Given the description of an element on the screen output the (x, y) to click on. 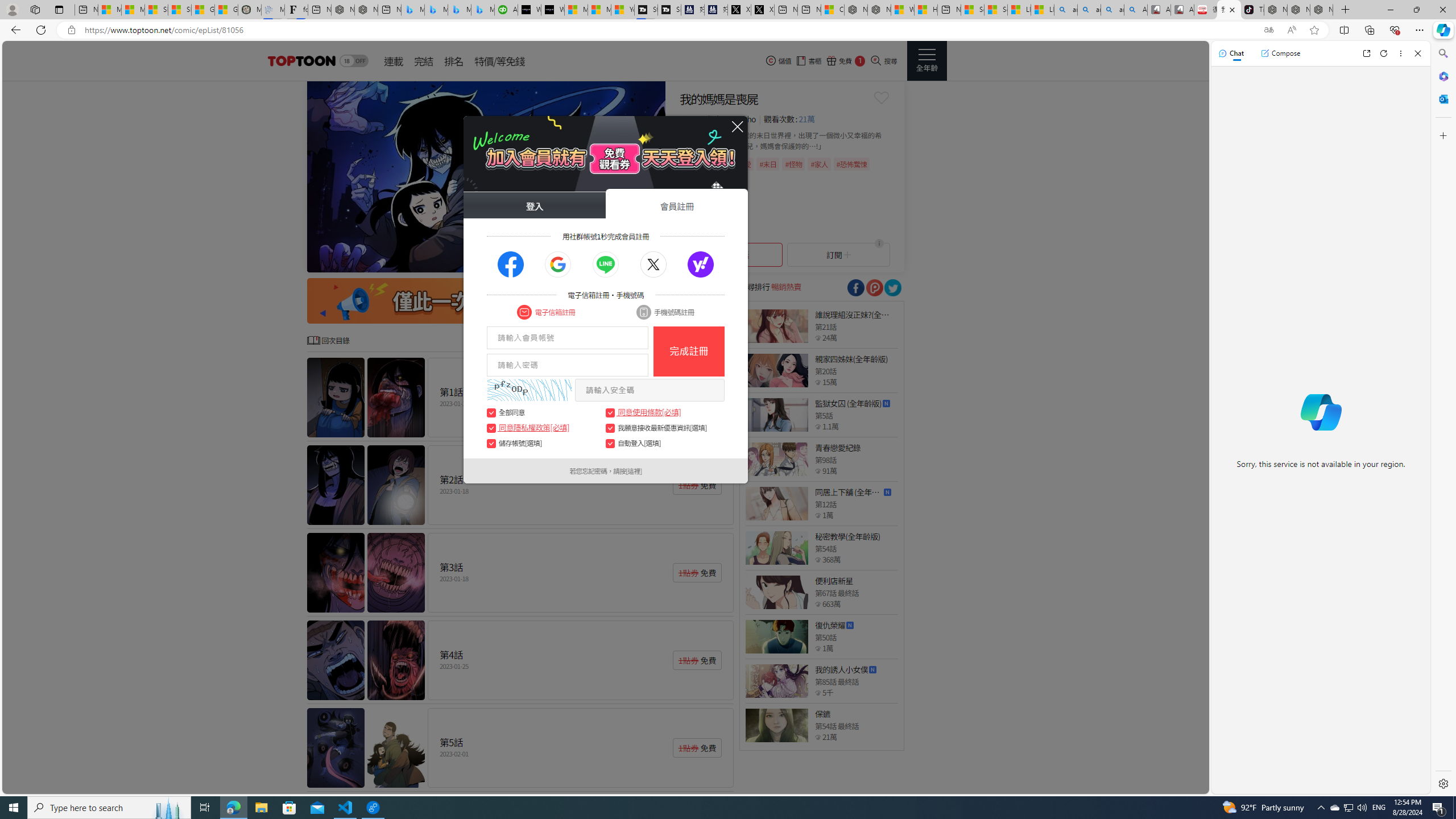
Go to slide 9 (642, 261)
X (761, 9)
Class: socialBtn actionSocialJoinBtn (701, 264)
Nordace Siena Pro 15 Backpack (1298, 9)
Nordace - Siena Pro 15 Essential Set (1321, 9)
Gilma and Hector both pose tropical trouble for Hawaii (226, 9)
